Given the description of an element on the screen output the (x, y) to click on. 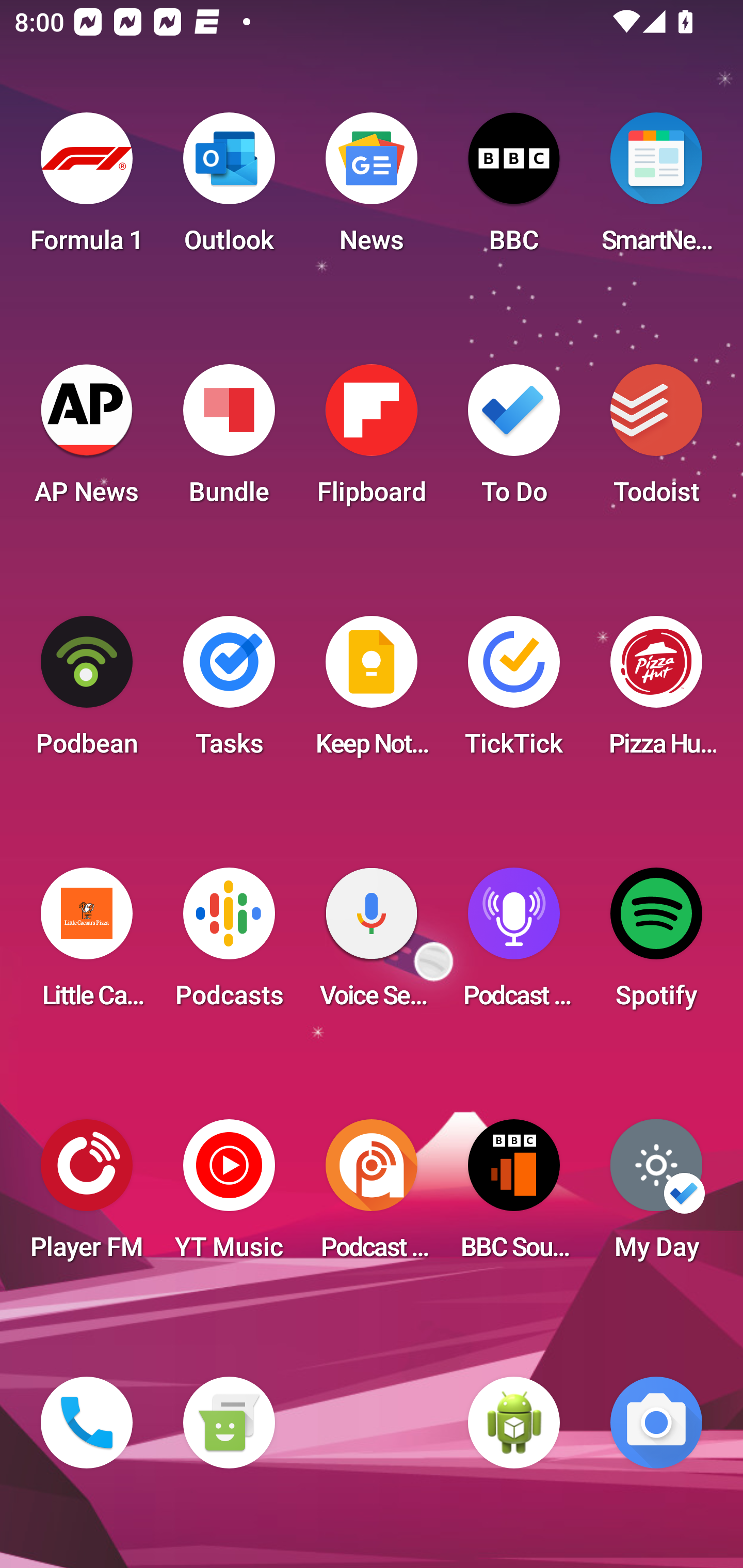
Formula 1 (86, 188)
Outlook (228, 188)
News (371, 188)
BBC (513, 188)
SmartNews (656, 188)
AP News (86, 440)
Bundle (228, 440)
Flipboard (371, 440)
To Do (513, 440)
Todoist (656, 440)
Podbean (86, 692)
Tasks (228, 692)
Keep Notes (371, 692)
TickTick (513, 692)
Pizza Hut HK & Macau (656, 692)
Little Caesars Pizza (86, 943)
Podcasts (228, 943)
Voice Search (371, 943)
Podcast Player (513, 943)
Spotify (656, 943)
Player FM (86, 1195)
YT Music (228, 1195)
Podcast Addict (371, 1195)
BBC Sounds (513, 1195)
My Day (656, 1195)
Phone (86, 1422)
Messaging (228, 1422)
WebView Browser Tester (513, 1422)
Camera (656, 1422)
